Given the description of an element on the screen output the (x, y) to click on. 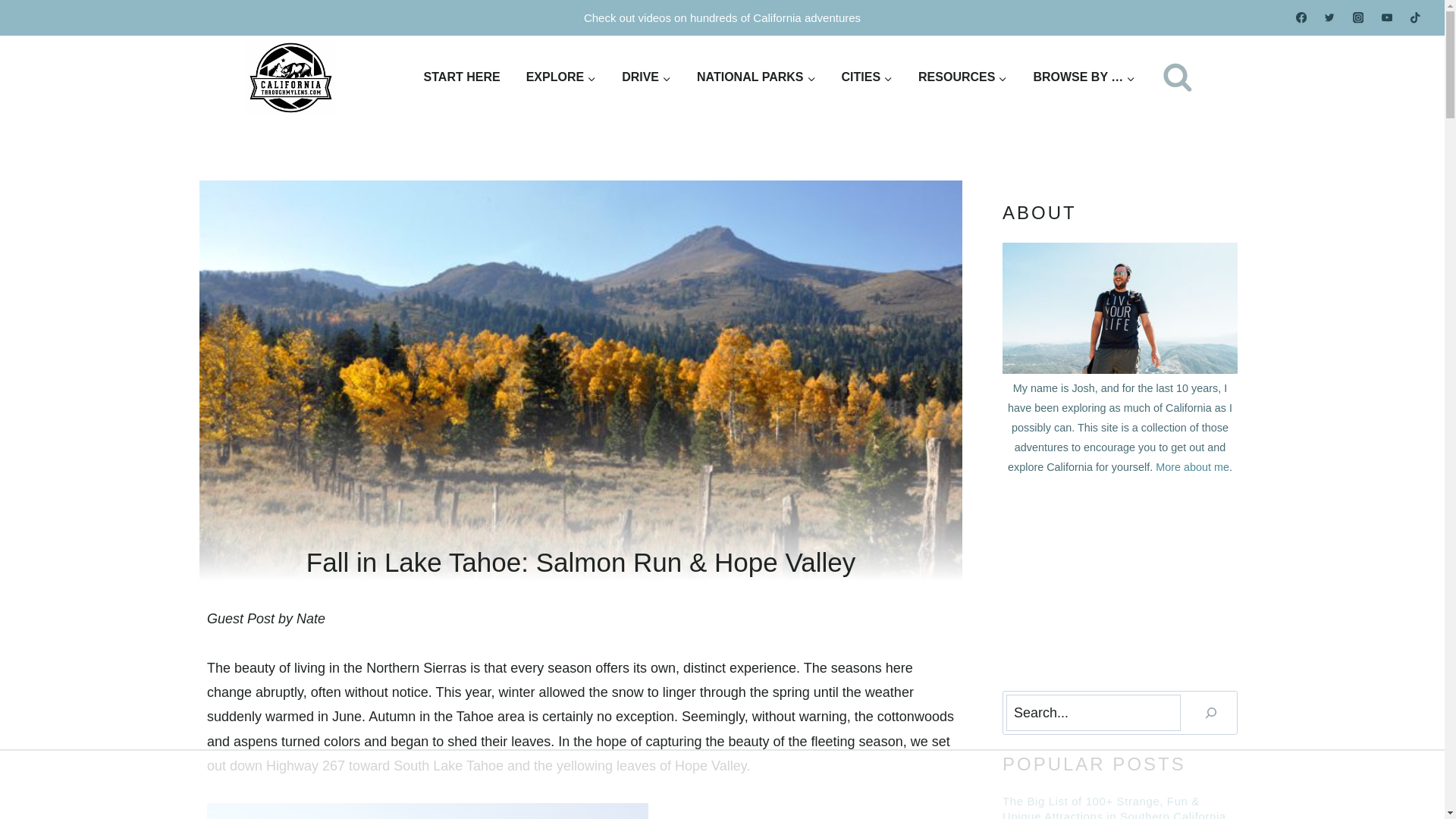
DRIVE (646, 77)
Fall in Hope Valley (426, 811)
CITIES (866, 77)
START HERE (461, 77)
NATIONAL PARKS (756, 77)
Check out videos on hundreds of California adventures (721, 17)
EXPLORE (560, 77)
